Given the description of an element on the screen output the (x, y) to click on. 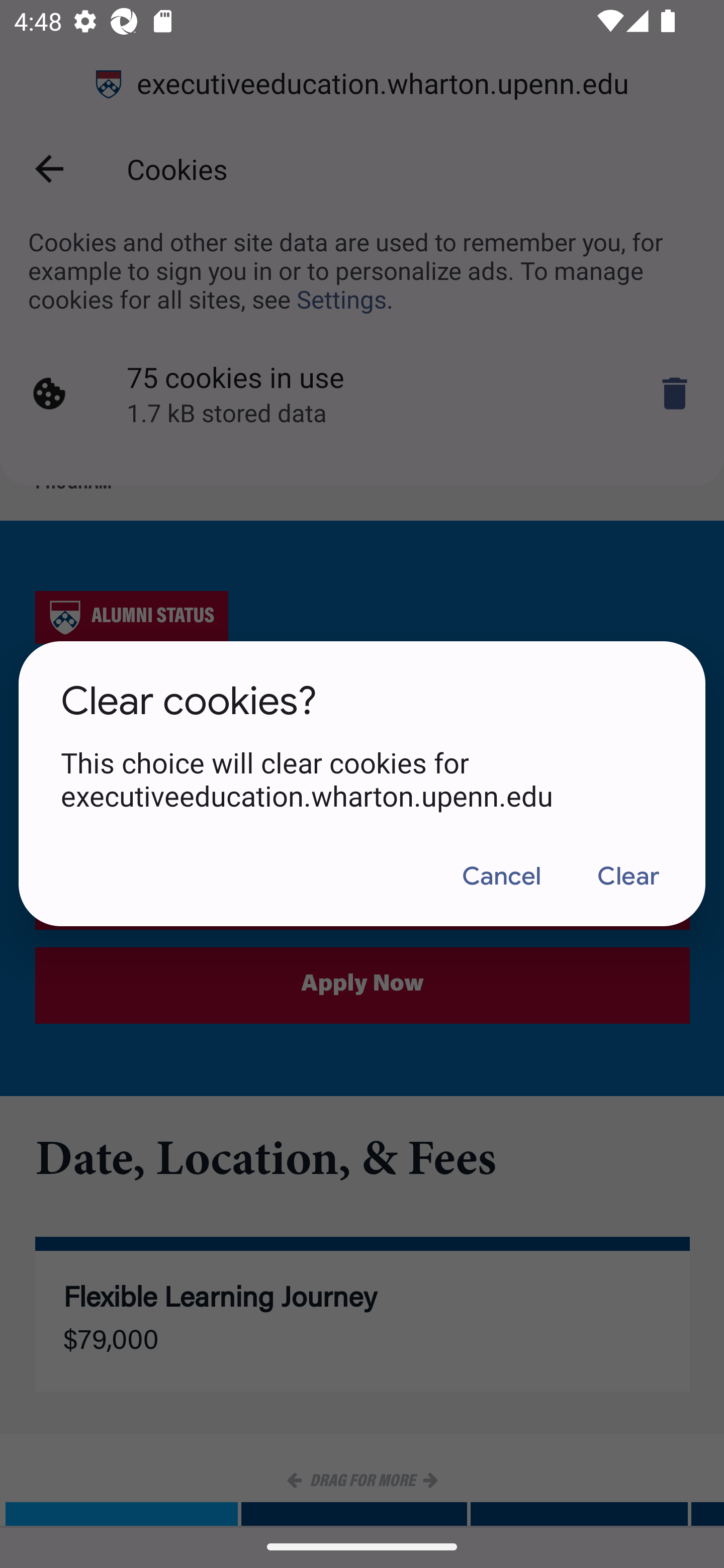
Cancel (501, 876)
Clear (627, 876)
